Given the description of an element on the screen output the (x, y) to click on. 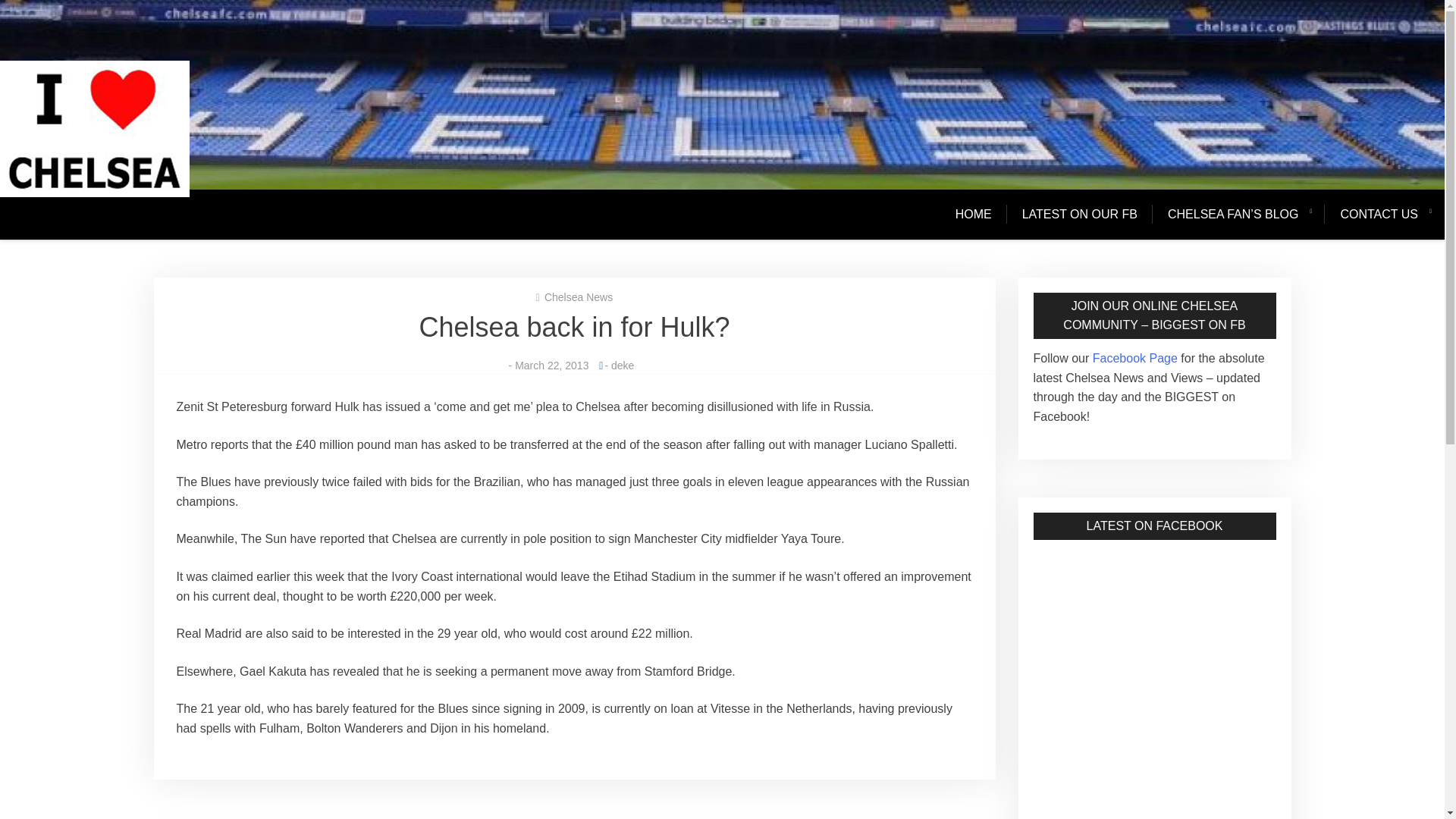
Facebook Page (1133, 358)
HOME (981, 214)
LATEST ON OUR FB (1080, 214)
Likebox Iframe (1154, 625)
March 22, 2013 (551, 365)
deke (622, 365)
CONTACT US (1378, 214)
Chelsea News (578, 297)
